Given the description of an element on the screen output the (x, y) to click on. 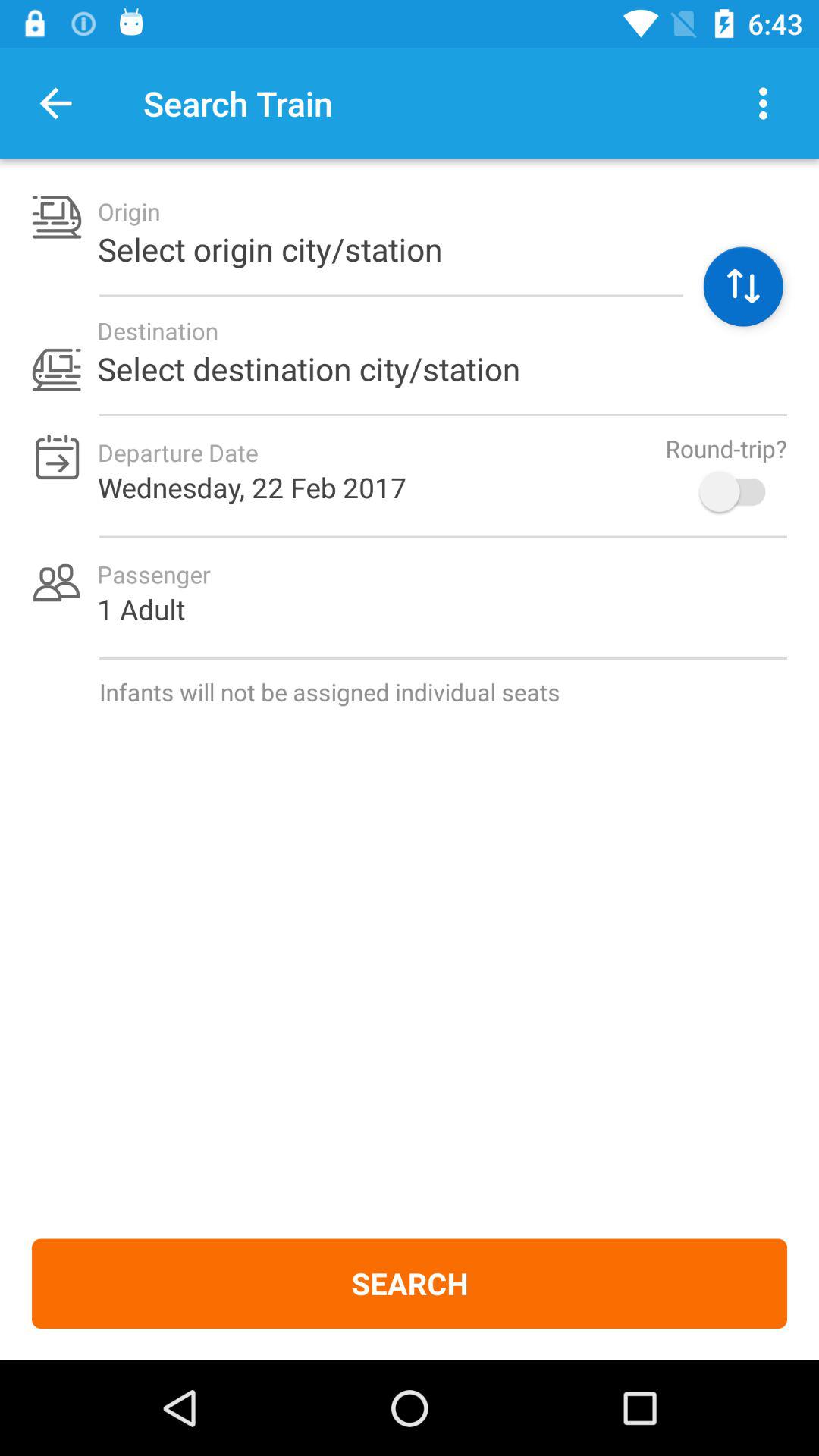
options menu (763, 103)
